Given the description of an element on the screen output the (x, y) to click on. 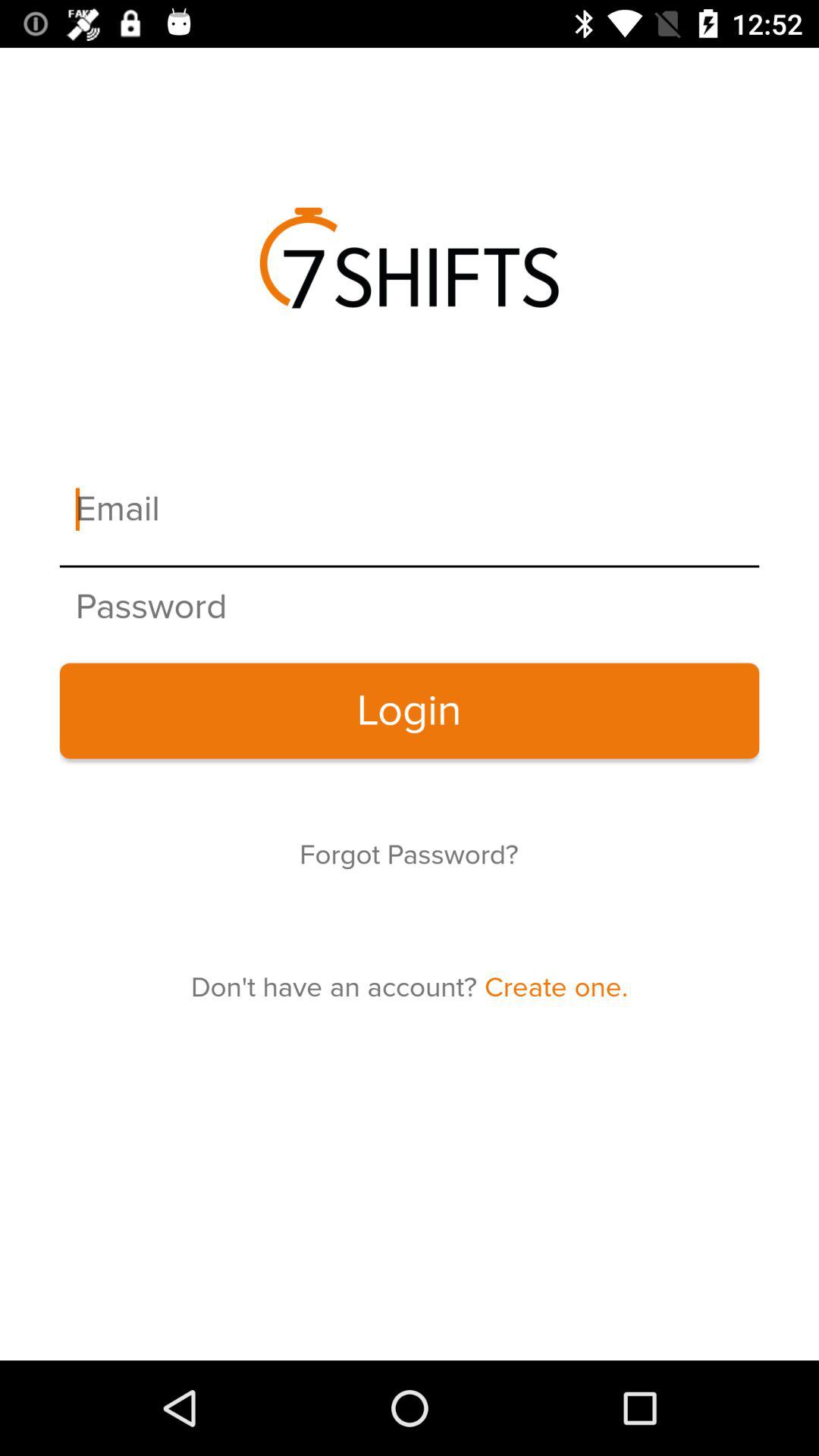
password (409, 607)
